Given the description of an element on the screen output the (x, y) to click on. 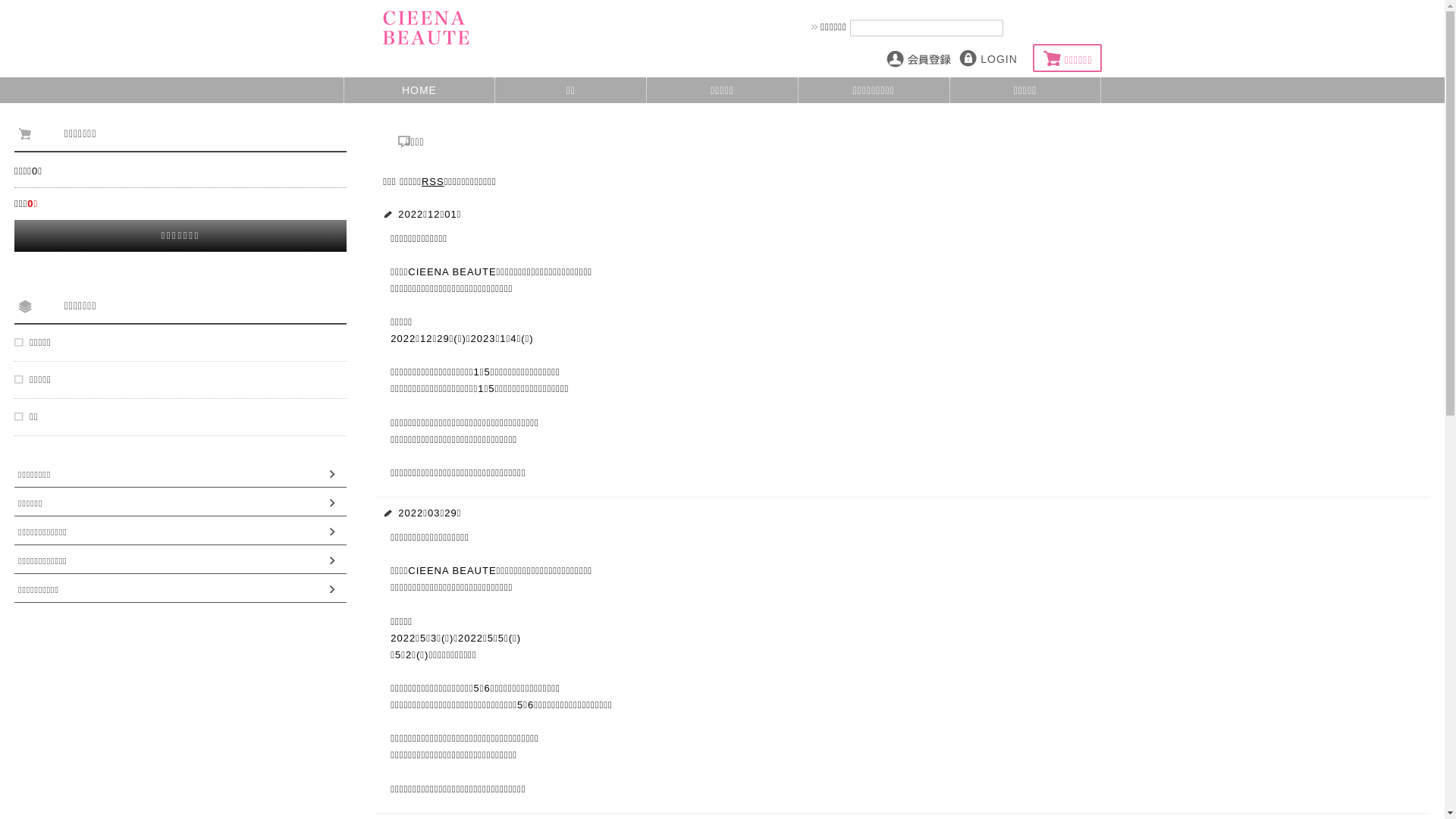
RSS Element type: text (432, 181)
HOME Element type: text (419, 90)
LOGIN Element type: text (989, 59)
